Given the description of an element on the screen output the (x, y) to click on. 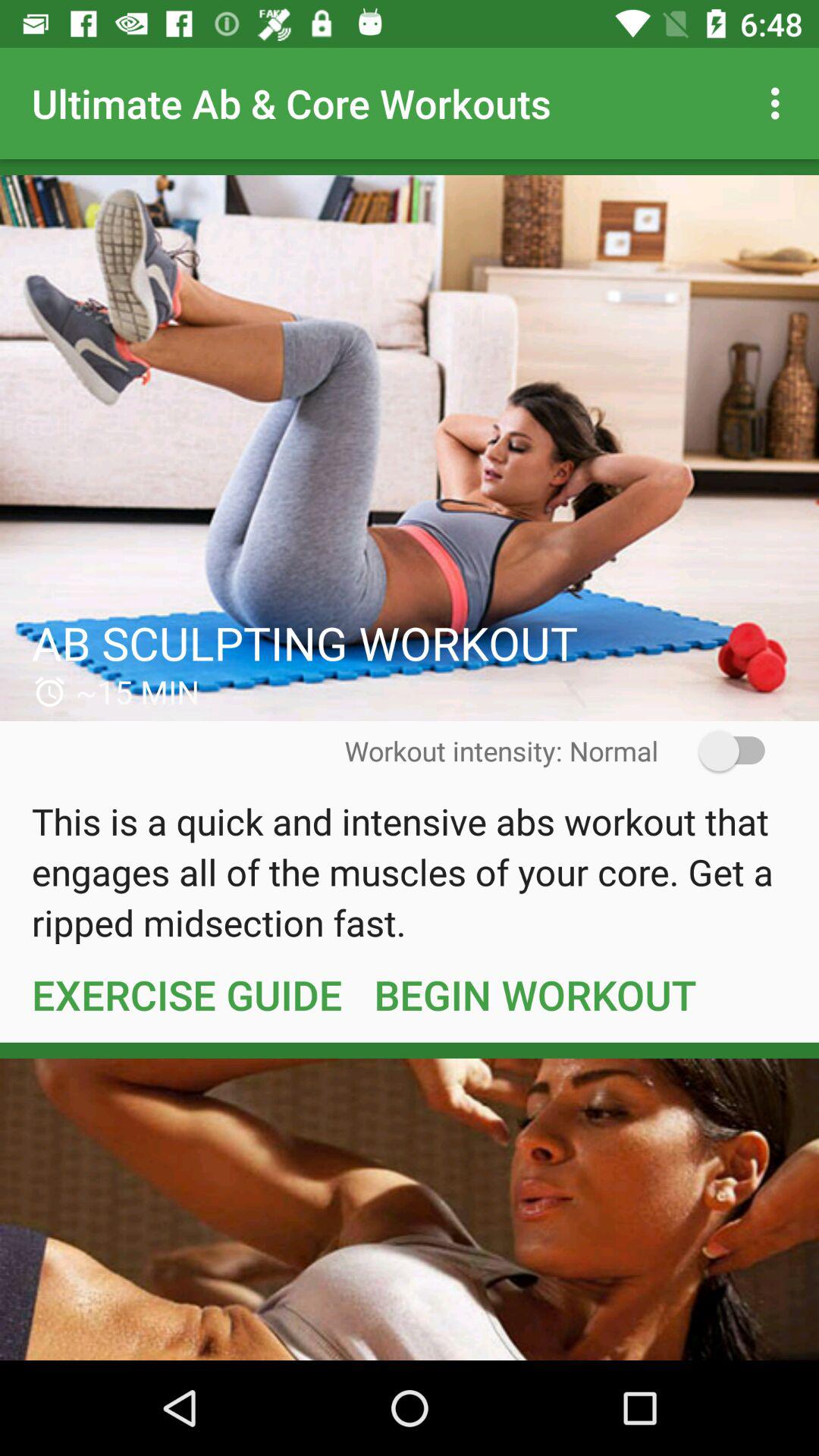
view workout details (409, 448)
